Given the description of an element on the screen output the (x, y) to click on. 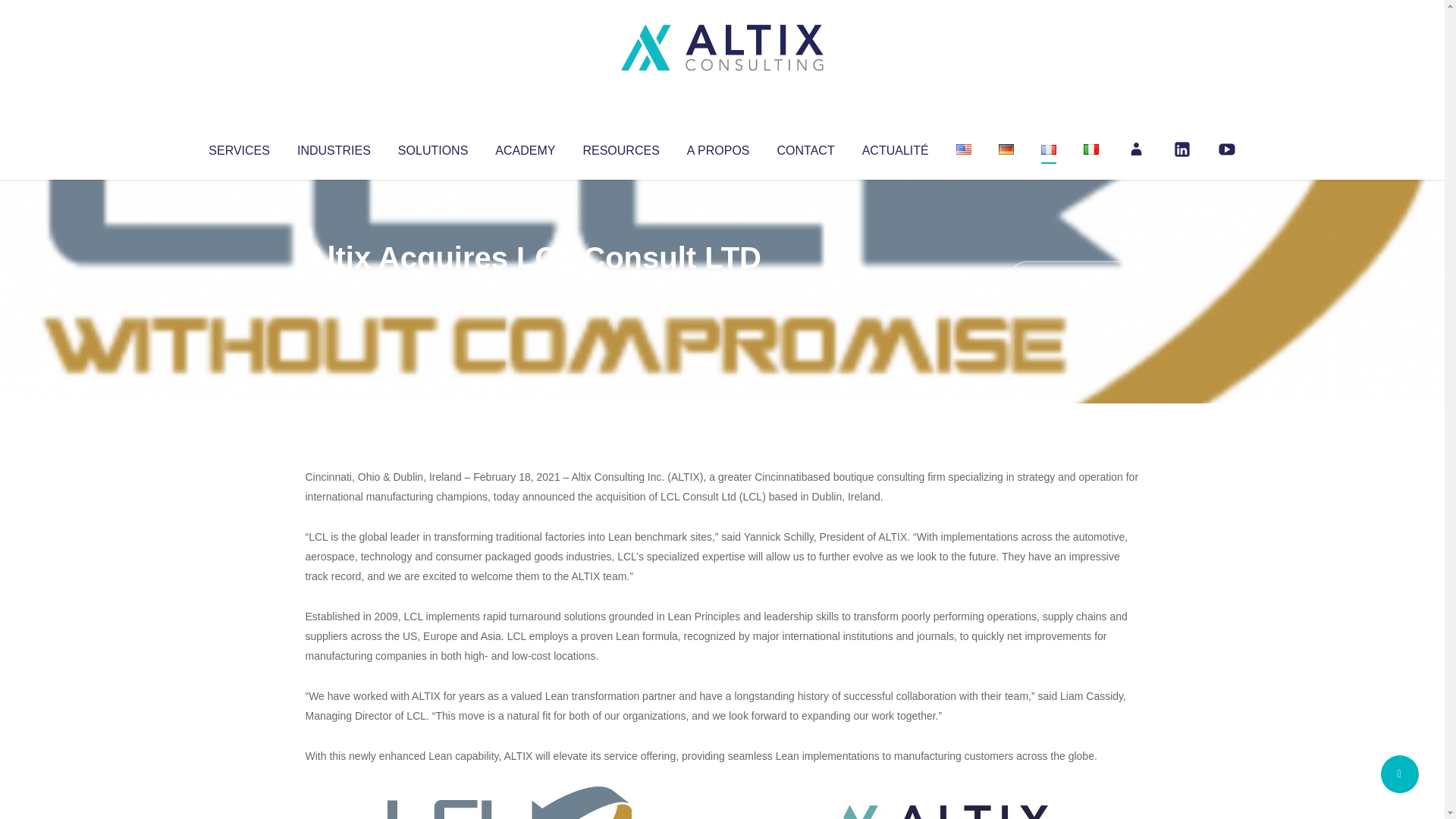
Uncategorized (530, 287)
INDUSTRIES (334, 146)
Altix (333, 287)
ACADEMY (524, 146)
RESOURCES (620, 146)
A PROPOS (718, 146)
SOLUTIONS (432, 146)
No Comments (1073, 278)
Articles par Altix (333, 287)
SERVICES (238, 146)
